Given the description of an element on the screen output the (x, y) to click on. 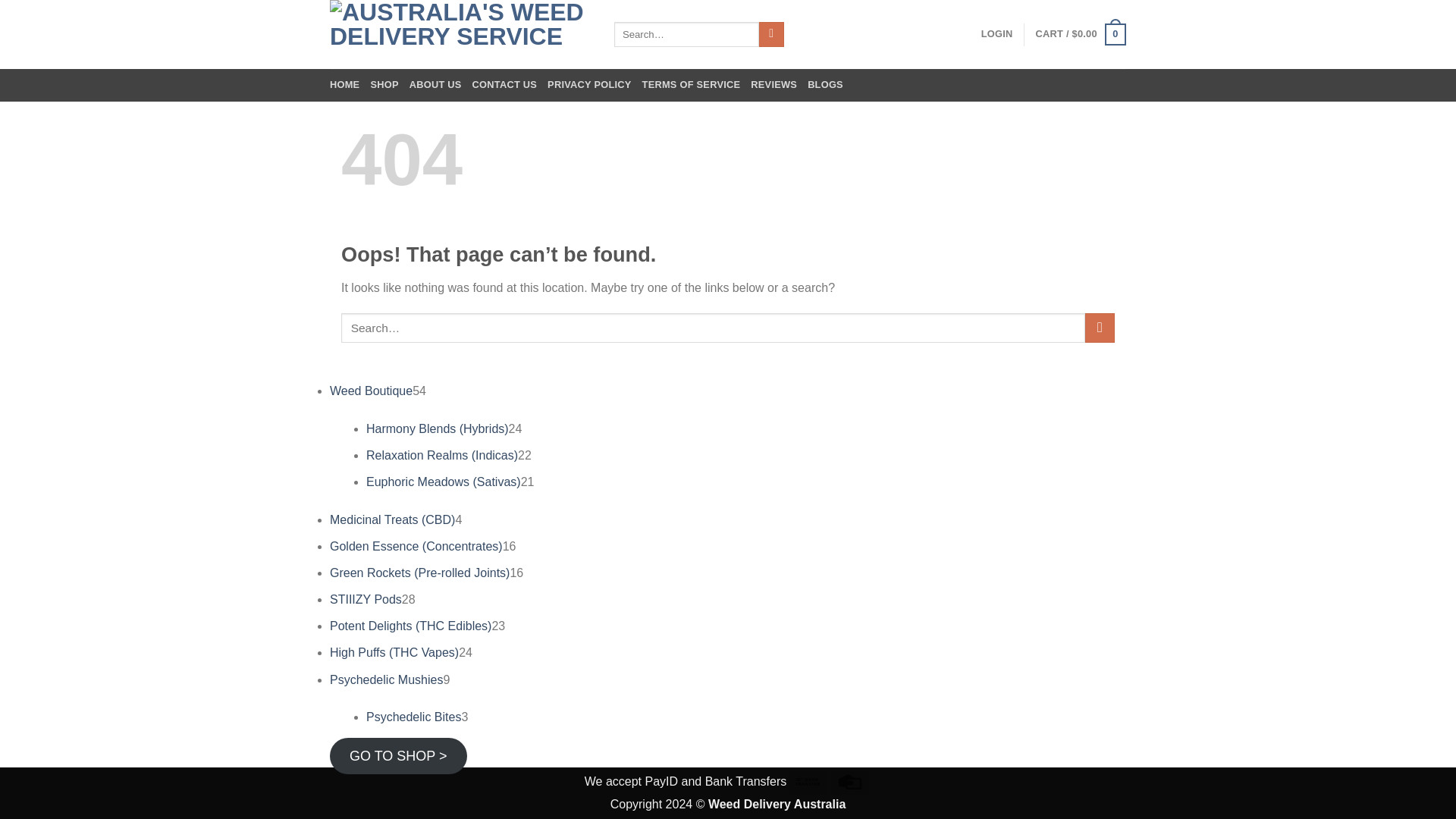
STIIIZY Pods (365, 599)
Search (771, 34)
SHOP (383, 84)
TERMS OF SERVICE (691, 84)
CONTACT US (504, 84)
ABOUT US (435, 84)
HOME (344, 84)
REVIEWS (773, 84)
Cart (1080, 34)
